Given the description of an element on the screen output the (x, y) to click on. 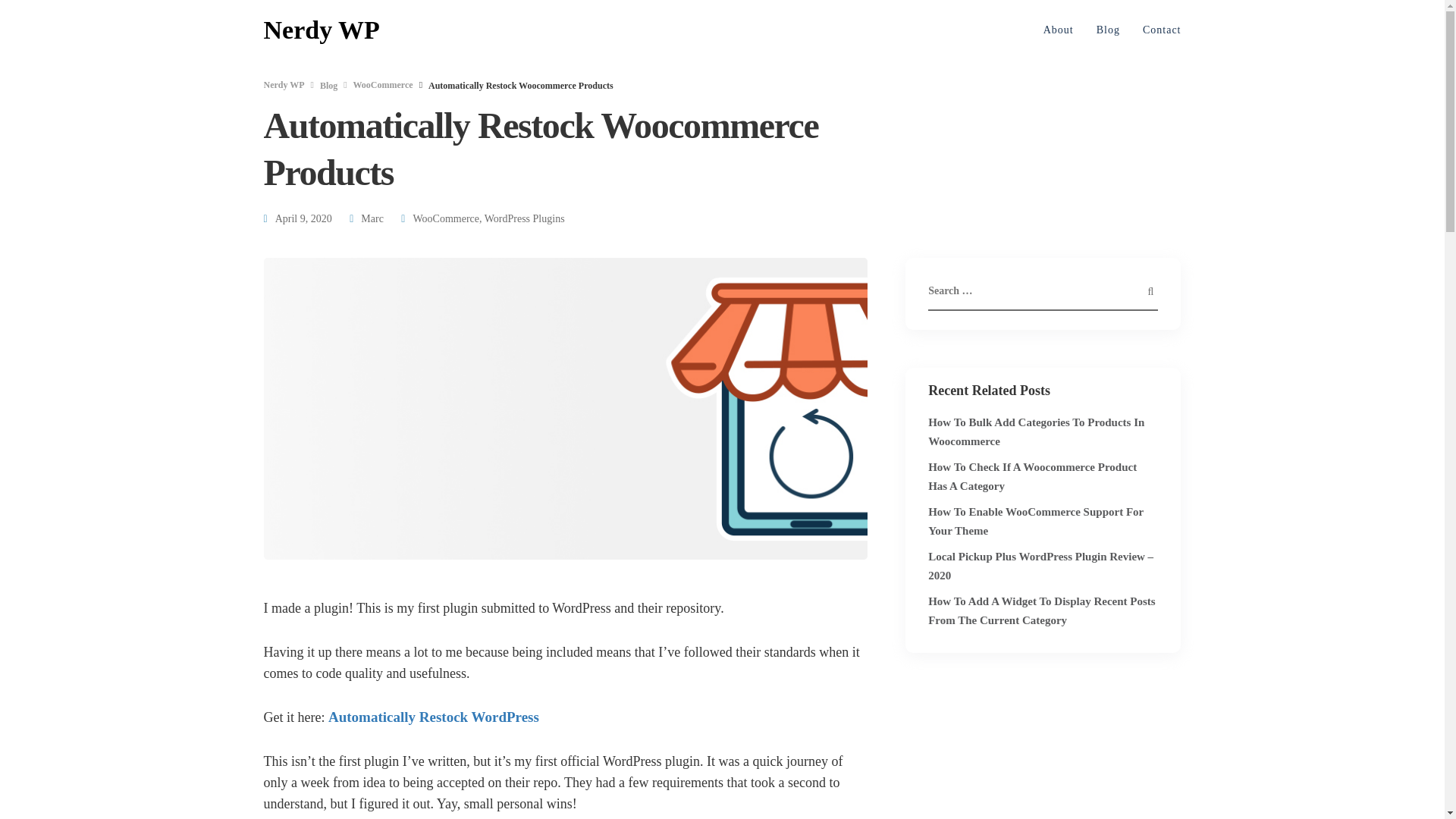
WooCommerce (445, 218)
Go to Blog. (328, 85)
How To Check If A Woocommerce Product Has A Category (1032, 476)
Nerdy WP (283, 84)
Marc (372, 218)
How To Enable WooCommerce Support For Your Theme (1035, 521)
Nerdy WP (321, 30)
How To Bulk Add Categories To Products In Woocommerce (1036, 431)
Posts by Marc (372, 218)
How To Enable WooCommerce Support For Your Theme (1035, 521)
Automatically Restock WordPress (433, 716)
About (1058, 29)
WordPress Plugins (524, 218)
How To Check If A Woocommerce Product Has A Category (1032, 476)
How To Bulk Add Categories To Products In Woocommerce (1036, 431)
